Given the description of an element on the screen output the (x, y) to click on. 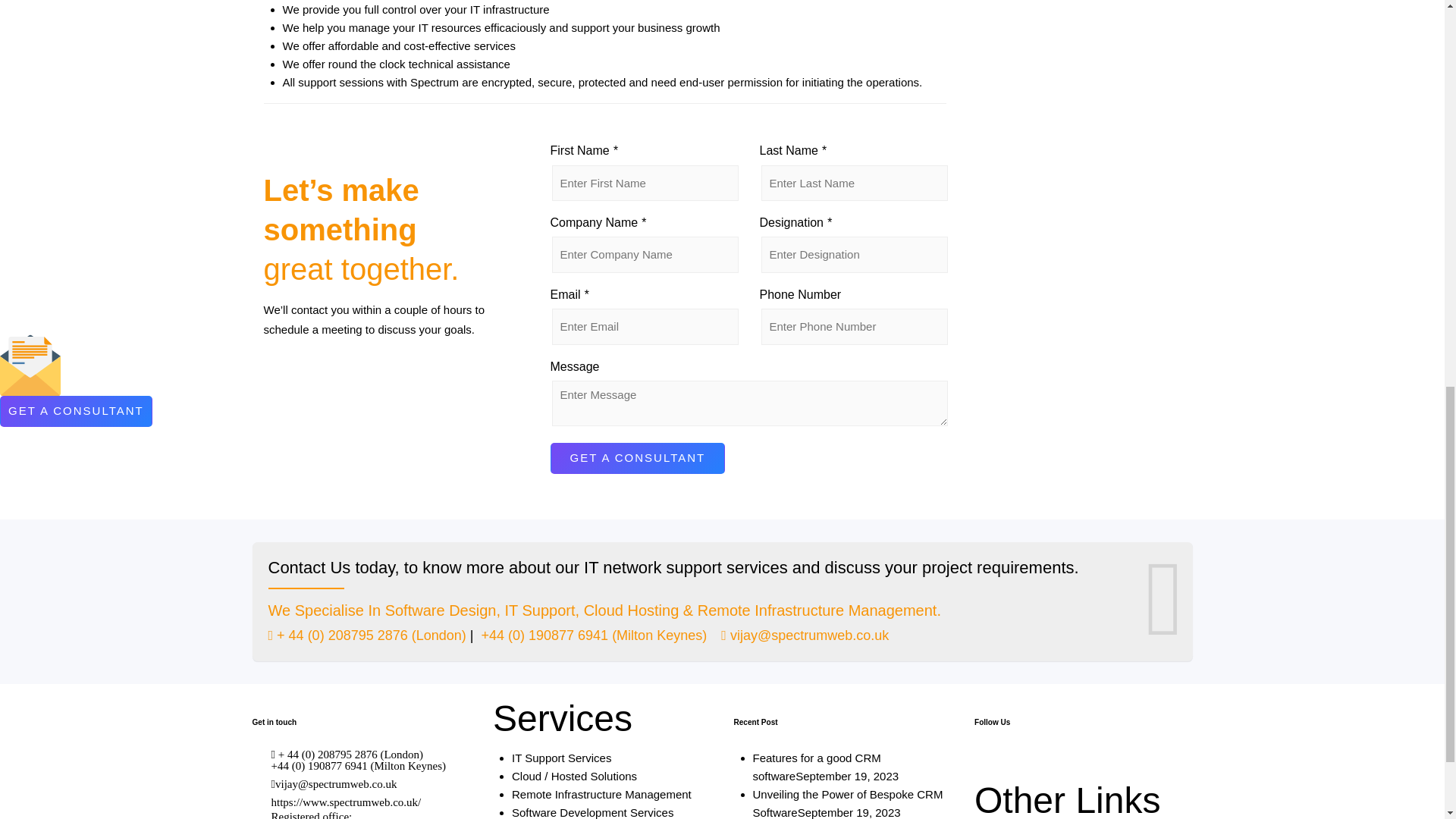
Get A Consultant (637, 458)
YouTube (1015, 764)
Get A Consultant (637, 458)
LinkedIn (1071, 764)
Twitter (987, 764)
Facebook (1043, 764)
